Given the description of an element on the screen output the (x, y) to click on. 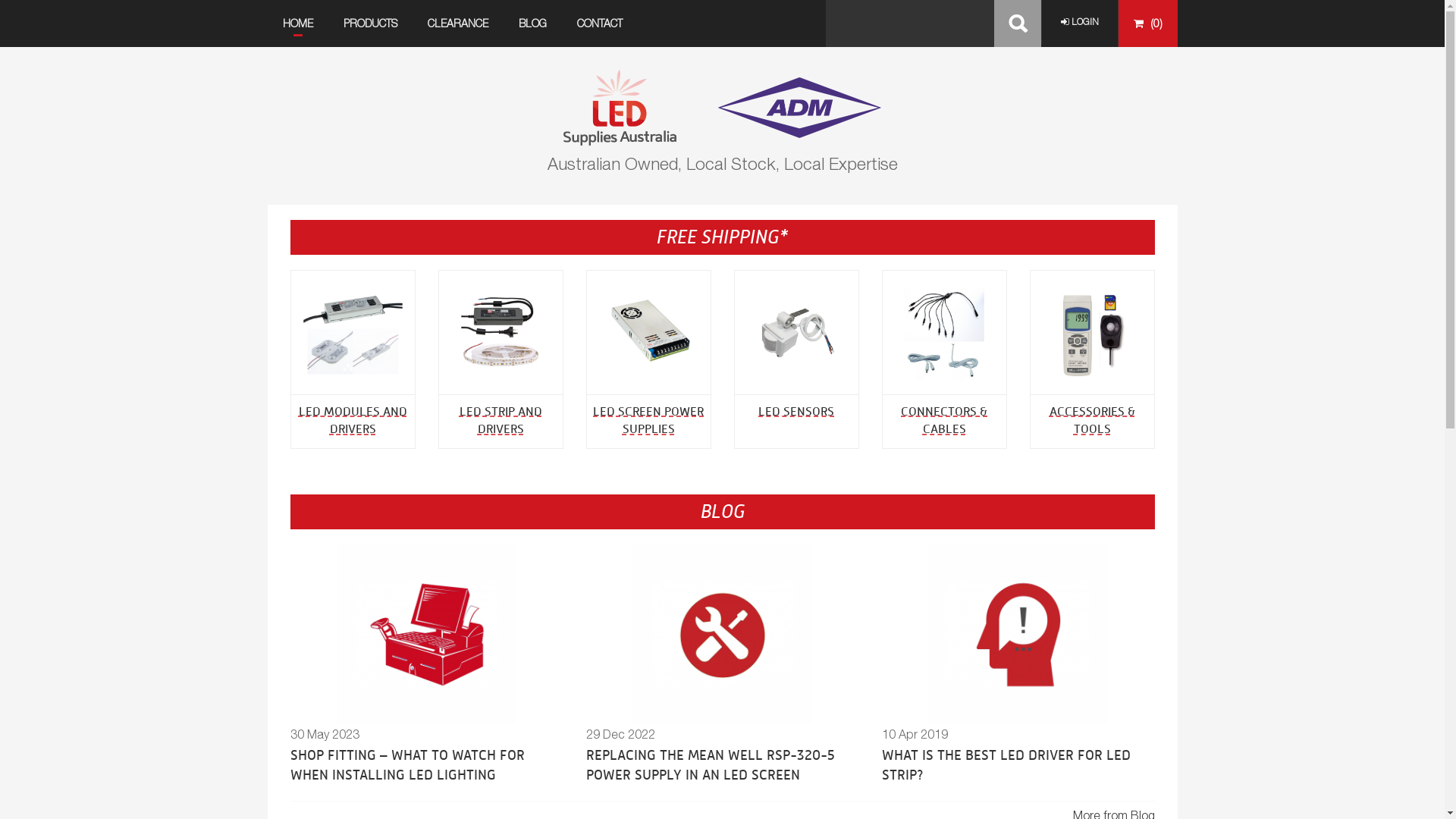
led_strips_and_led_drivers Element type: hover (512, 344)
led_drivers_and_led_modules Element type: hover (364, 344)
the_best_led_driver_for_led_strip Element type: hover (1035, 651)
CONTACT Element type: text (599, 23)
LED SCREEN POWER SUPPLIES Element type: text (648, 420)
led_screen_power_supplies Element type: hover (660, 344)
led_sensors Element type: hover (808, 344)
LED MODULES AND DRIVERS Element type: text (352, 420)
HOME Element type: text (296, 23)
ACCESSORIES & TOOLS Element type: text (1092, 420)
replacing_failed_power_supply_in_outdoor_led_screen Element type: hover (739, 651)
CLEARANCE Element type: text (457, 23)
PRODUCTS Element type: text (369, 23)
CONNECTORS & CABLES Element type: text (943, 420)
WHAT IS THE BEST LED DRIVER FOR LED STRIP? Element type: text (1005, 765)
led_lighting_shop_fitters Element type: hover (444, 651)
Back to home Element type: hover (722, 105)
Skip to main content Element type: text (55, 0)
LOGIN Element type: text (1078, 22)
LED STRIP AND DRIVERS Element type: text (500, 420)
accessories_and_tools Element type: hover (1104, 344)
LED SENSORS Element type: text (796, 411)
Search Element type: text (1016, 23)
cables_and_connectors Element type: hover (956, 344)
(0) Element type: text (1146, 23)
BLOG Element type: text (532, 23)
